Given the description of an element on the screen output the (x, y) to click on. 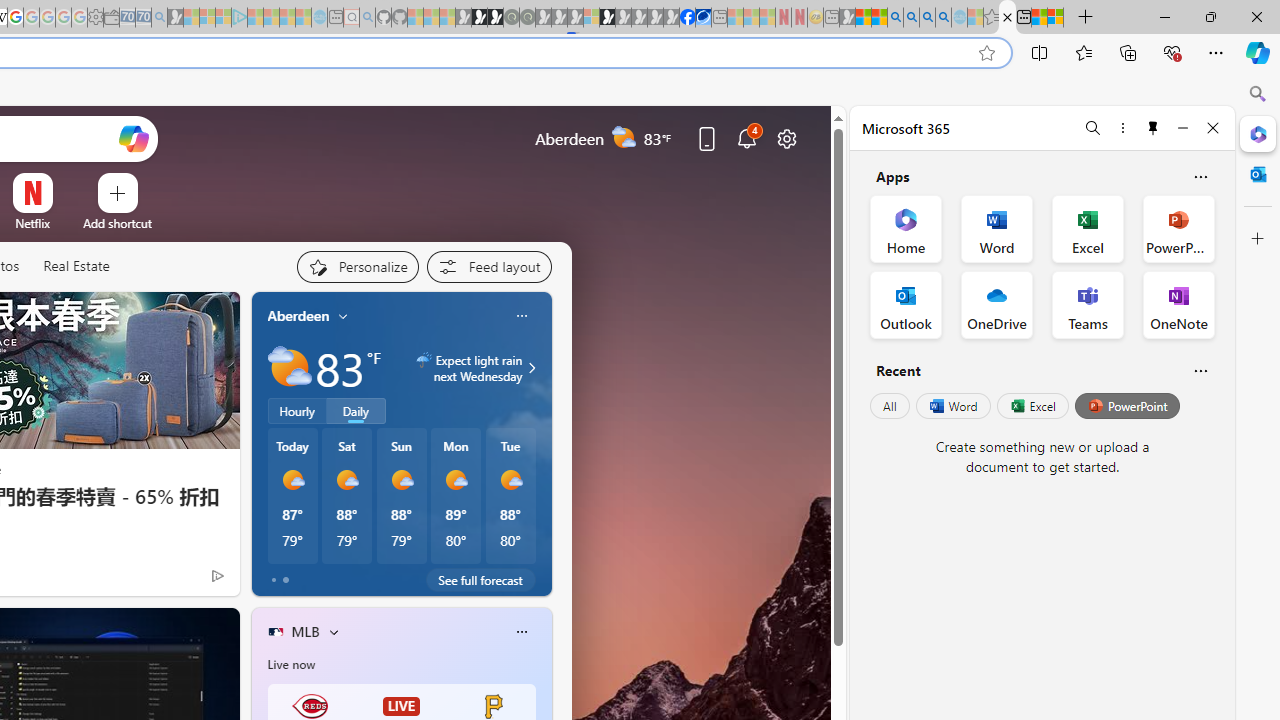
Mostly sunny (510, 479)
Outlook Office App (906, 304)
Netflix (32, 223)
Excel Office App (1087, 228)
